Given the description of an element on the screen output the (x, y) to click on. 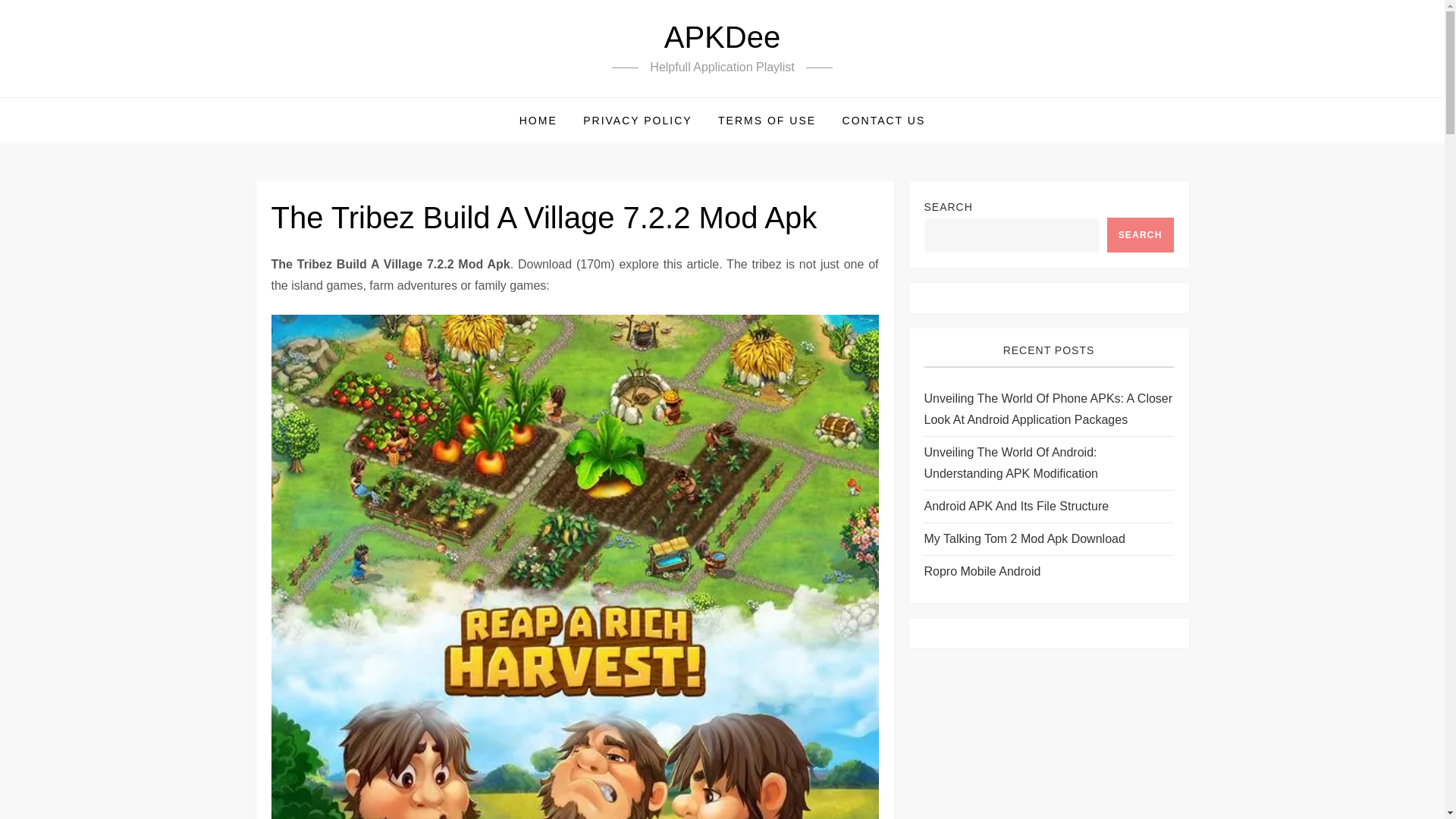
PRIVACY POLICY (637, 120)
CONTACT US (884, 120)
HOME (538, 120)
Android APK And Its File Structure (1015, 506)
APKDee (721, 37)
SEARCH (1139, 234)
My Talking Tom 2 Mod Apk Download (1023, 538)
TERMS OF USE (766, 120)
